Given the description of an element on the screen output the (x, y) to click on. 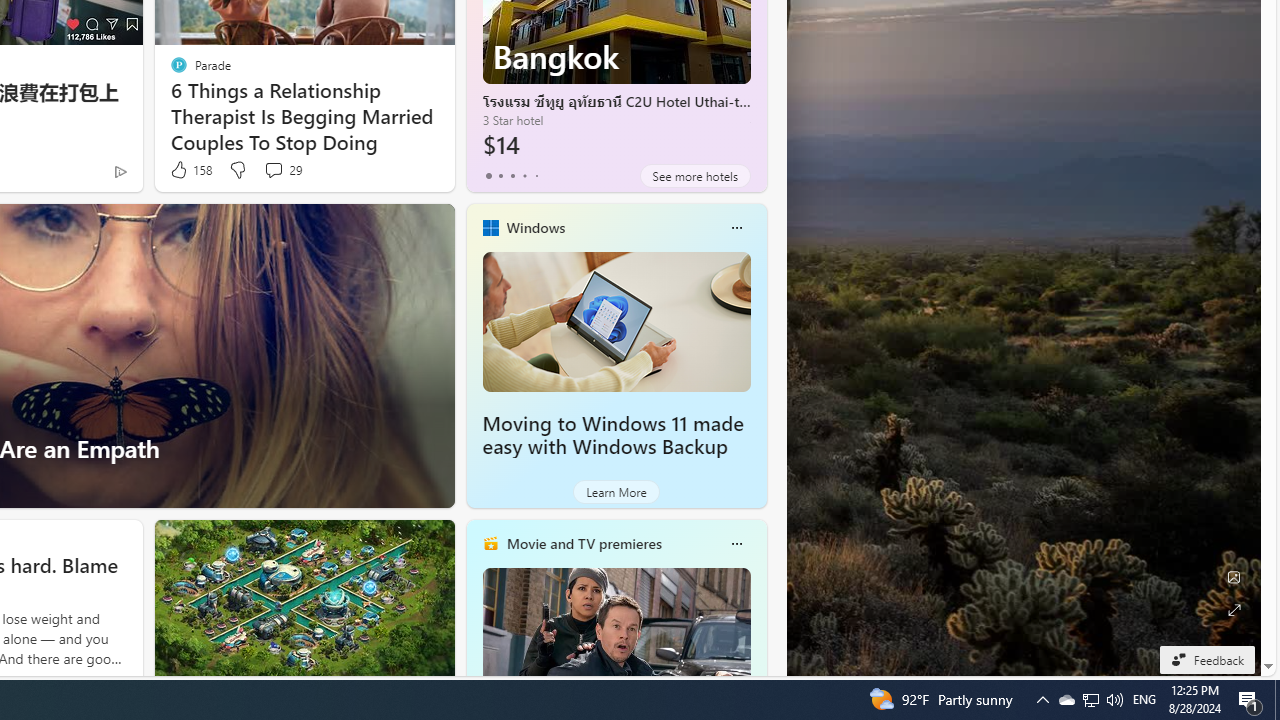
View comments 29 Comment (281, 170)
Moving to Windows 11 made easy with Windows Backup (616, 321)
See more hotels (694, 175)
tab-4 (535, 175)
Movie and TV premieres (583, 543)
Expand background (1233, 610)
